Given the description of an element on the screen output the (x, y) to click on. 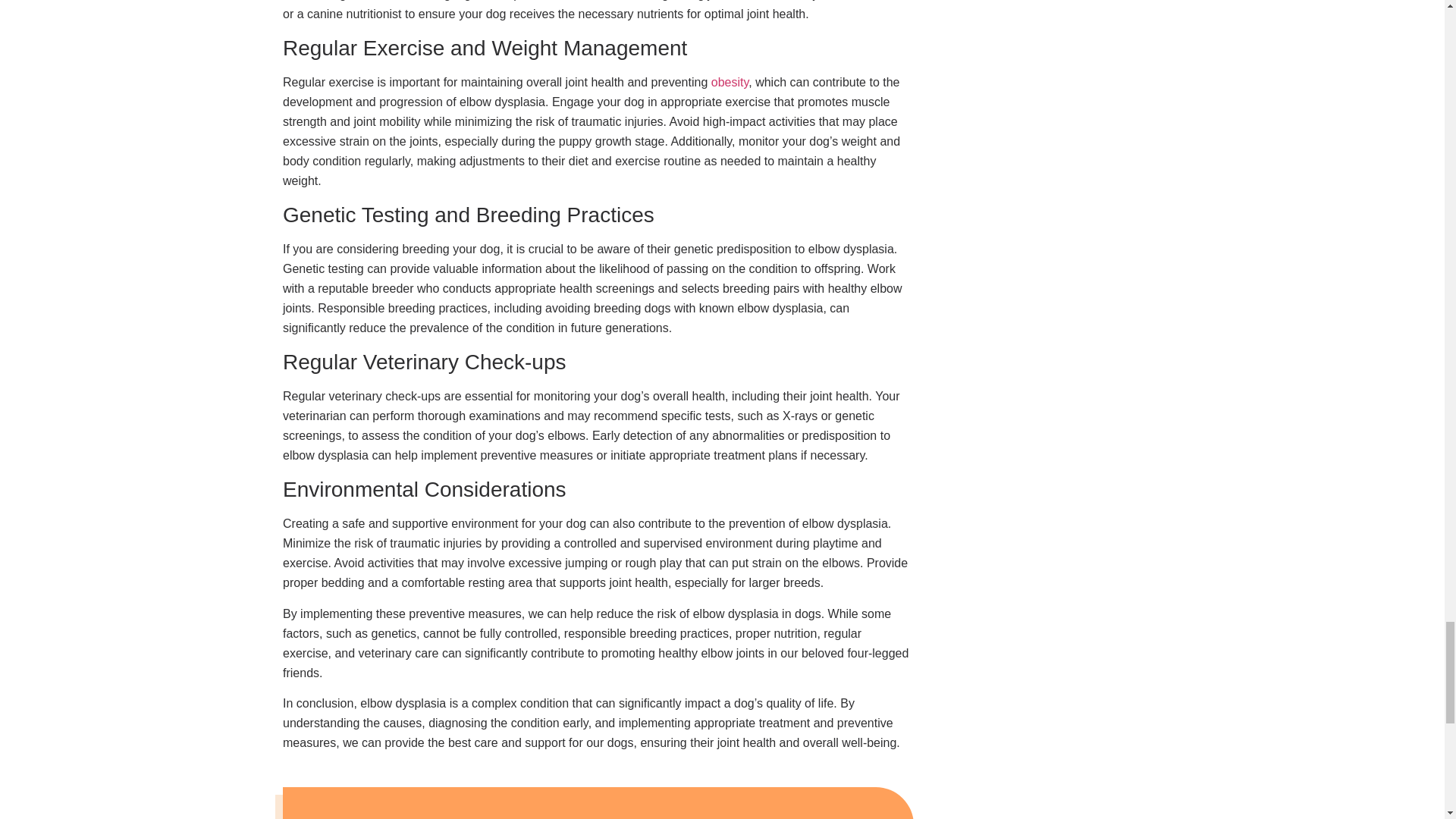
obesity (730, 82)
